Given the description of an element on the screen output the (x, y) to click on. 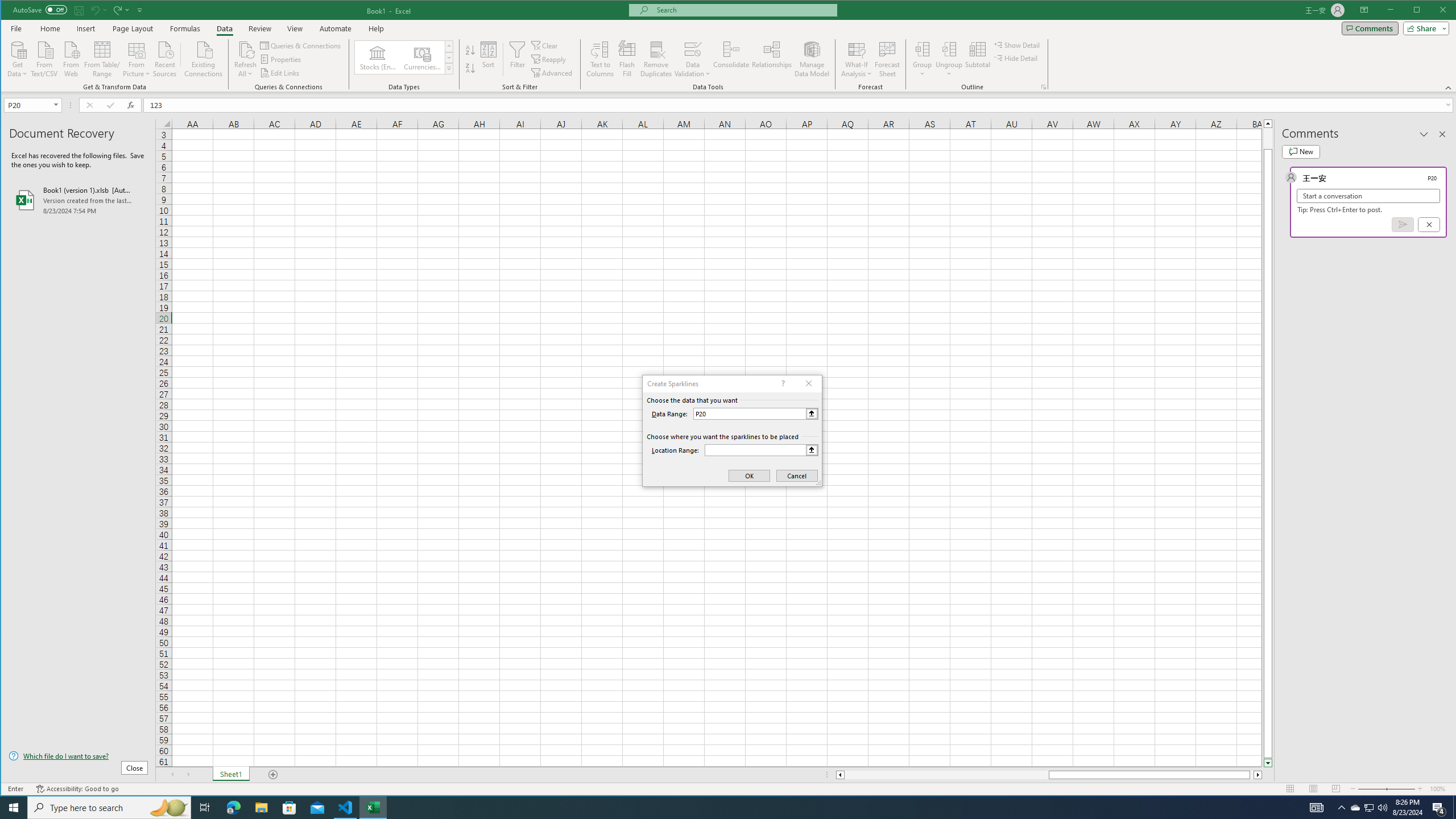
Post comment (Ctrl + Enter) (1402, 224)
Group and Outline Settings (1043, 86)
Sort Largest to Smallest (470, 68)
Maximize (1432, 11)
Page up (1267, 138)
Start a conversation (1368, 195)
New comment (1300, 151)
